Given the description of an element on the screen output the (x, y) to click on. 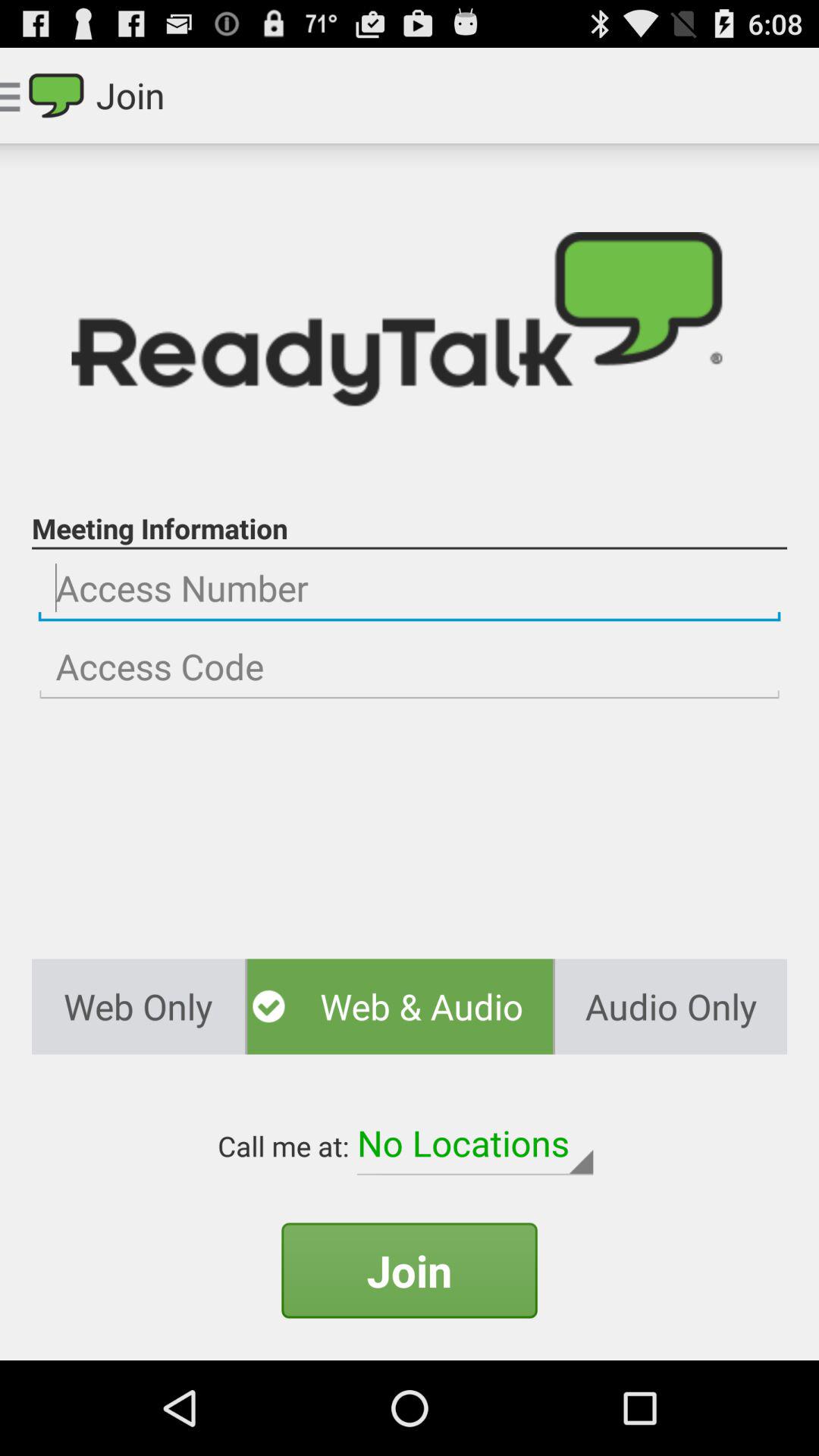
access number (409, 588)
